Given the description of an element on the screen output the (x, y) to click on. 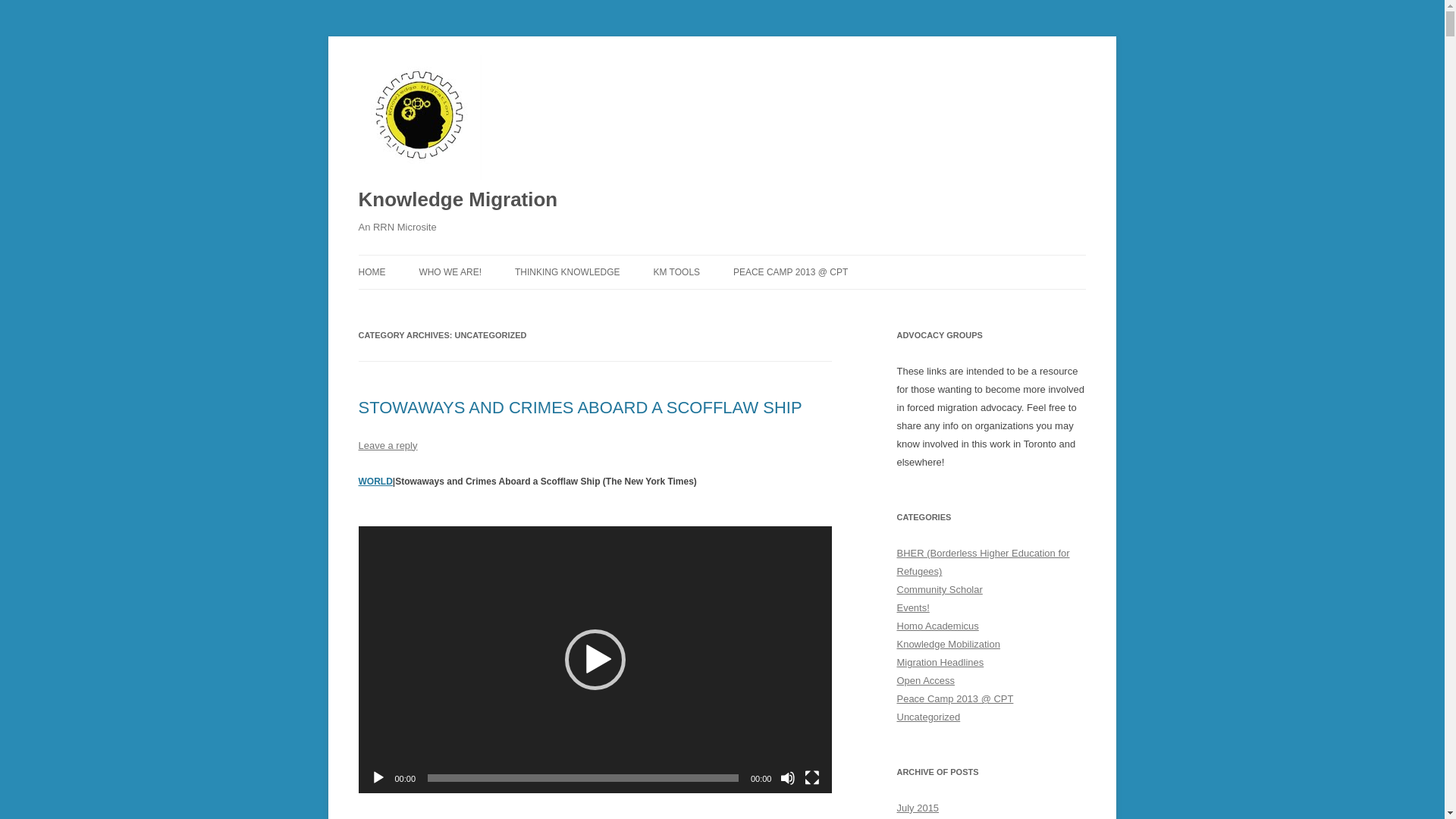
Skip to content (757, 259)
Knowledge Migration (457, 199)
Skip to content (757, 259)
KM TOOLS (676, 272)
WORLD (374, 480)
THINKING KNOWLEDGE (567, 272)
WHO WE ARE! (450, 272)
Mute (787, 777)
STOWAWAYS AND CRIMES ABOARD A SCOFFLAW SHIP (580, 407)
Knowledge Migration (457, 199)
Play (377, 777)
Leave a reply (387, 445)
Fullscreen (812, 777)
